Given the description of an element on the screen output the (x, y) to click on. 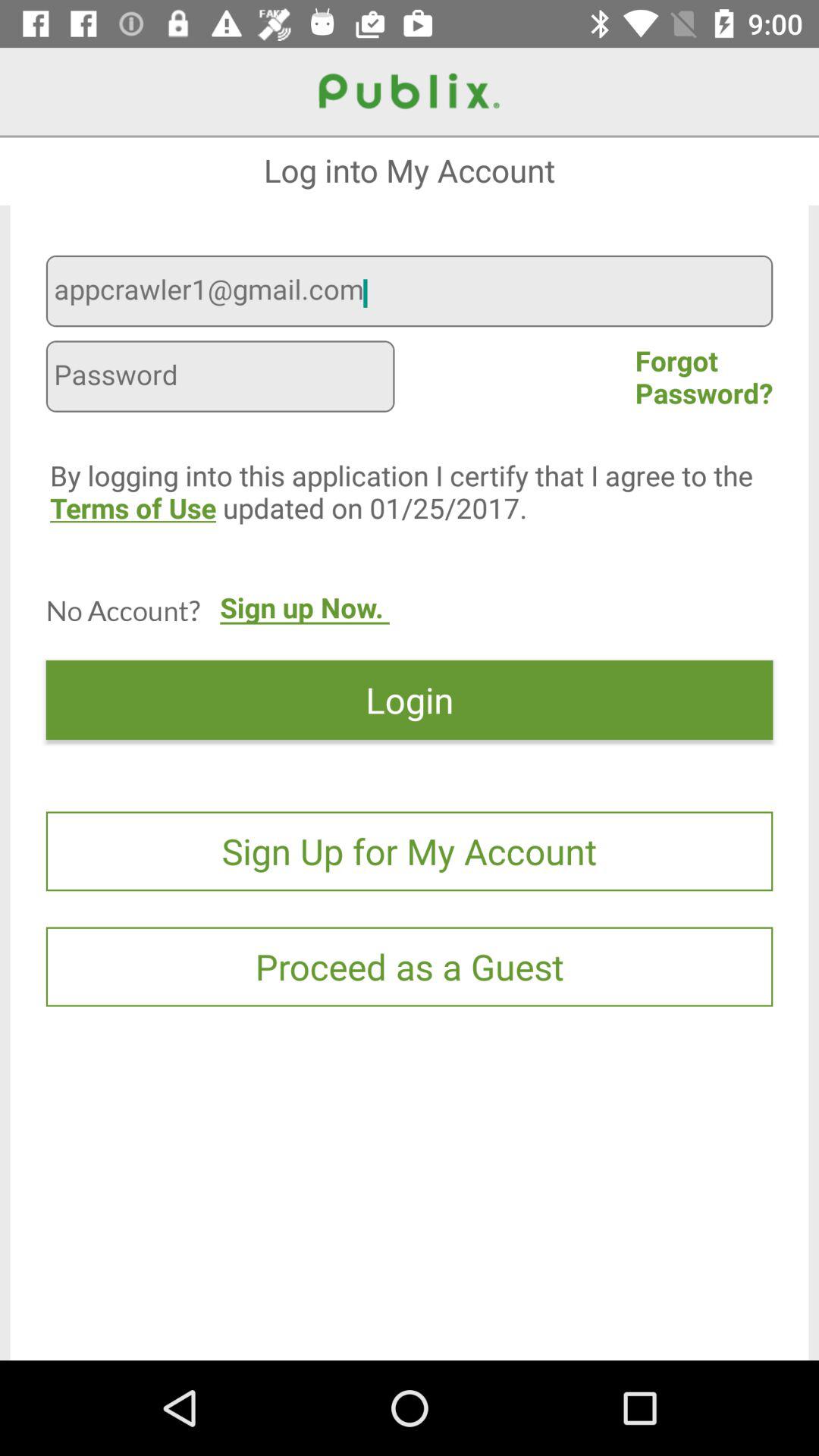
select the icon above forgot
password? icon (409, 293)
